Given the description of an element on the screen output the (x, y) to click on. 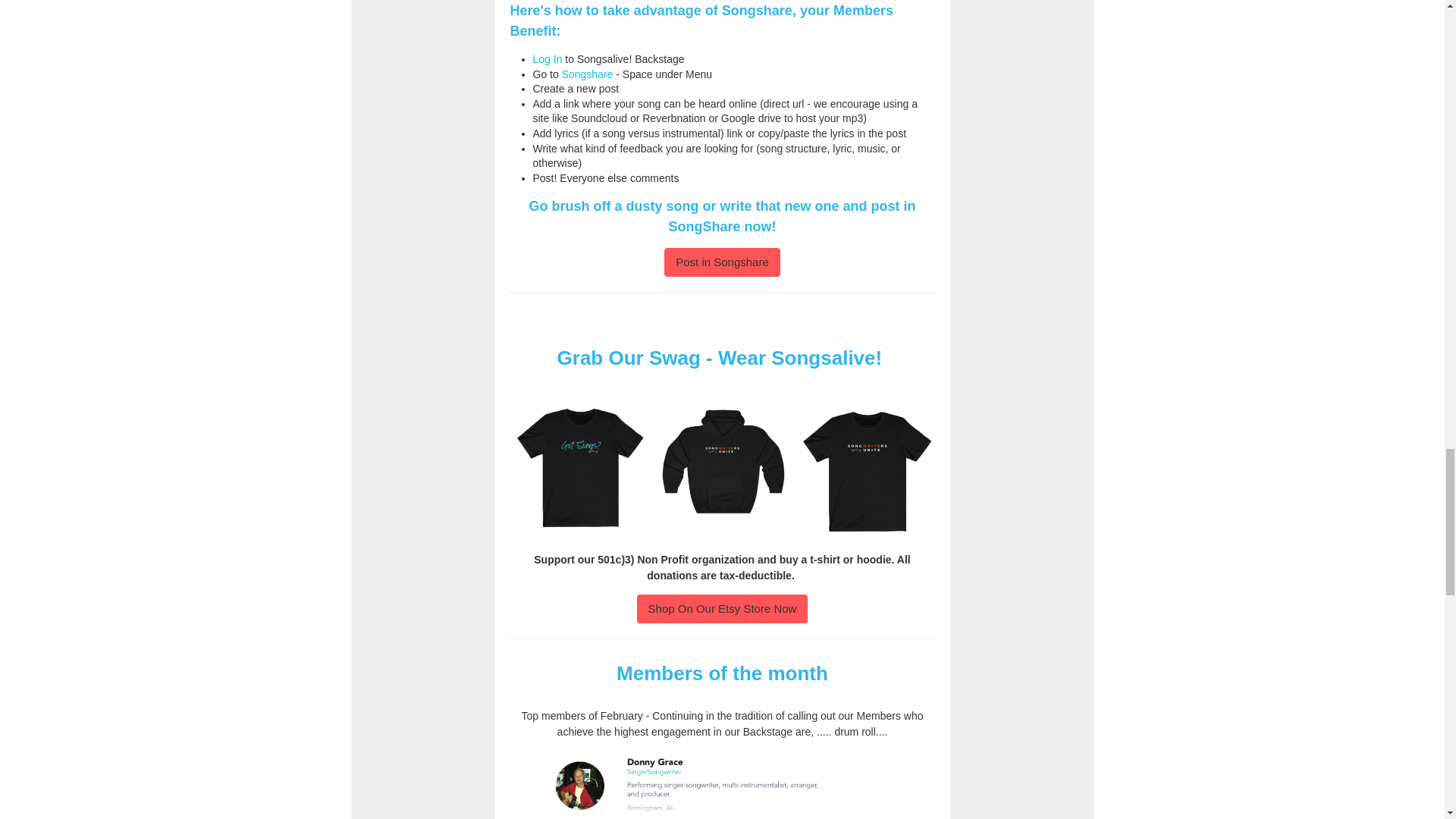
Songshare (587, 73)
Log In (547, 59)
Shop On Our Etsy Store Now (722, 608)
Post in Songshare (721, 262)
